Given the description of an element on the screen output the (x, y) to click on. 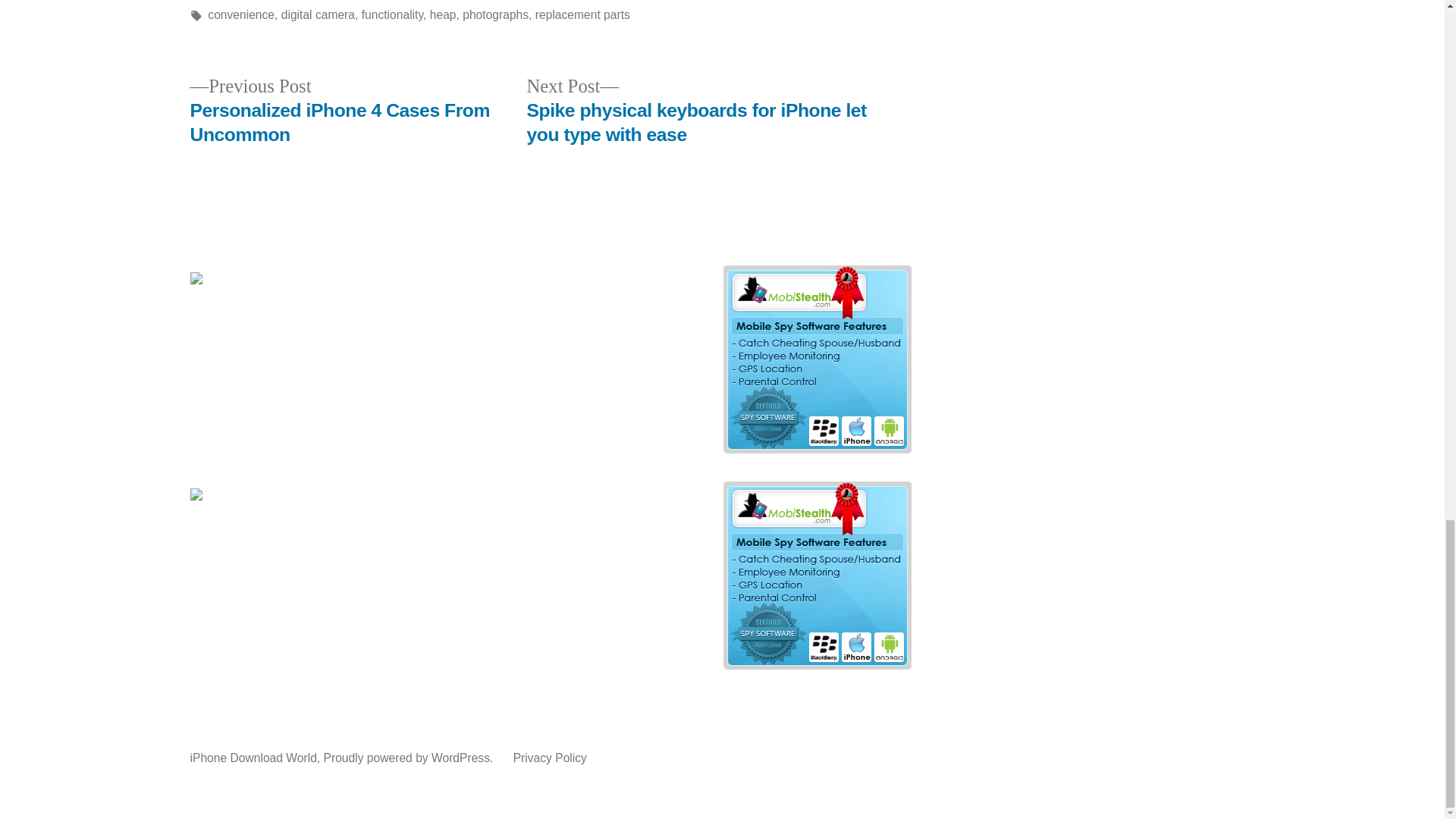
functionality (392, 14)
iPhone Download World (252, 757)
Buy MobiStealth Spy Software for Android Phone (816, 664)
digital camera (318, 14)
convenience (241, 14)
Proudly powered by WordPress. (409, 757)
photographs (495, 14)
Privacy Policy (549, 757)
